Given the description of an element on the screen output the (x, y) to click on. 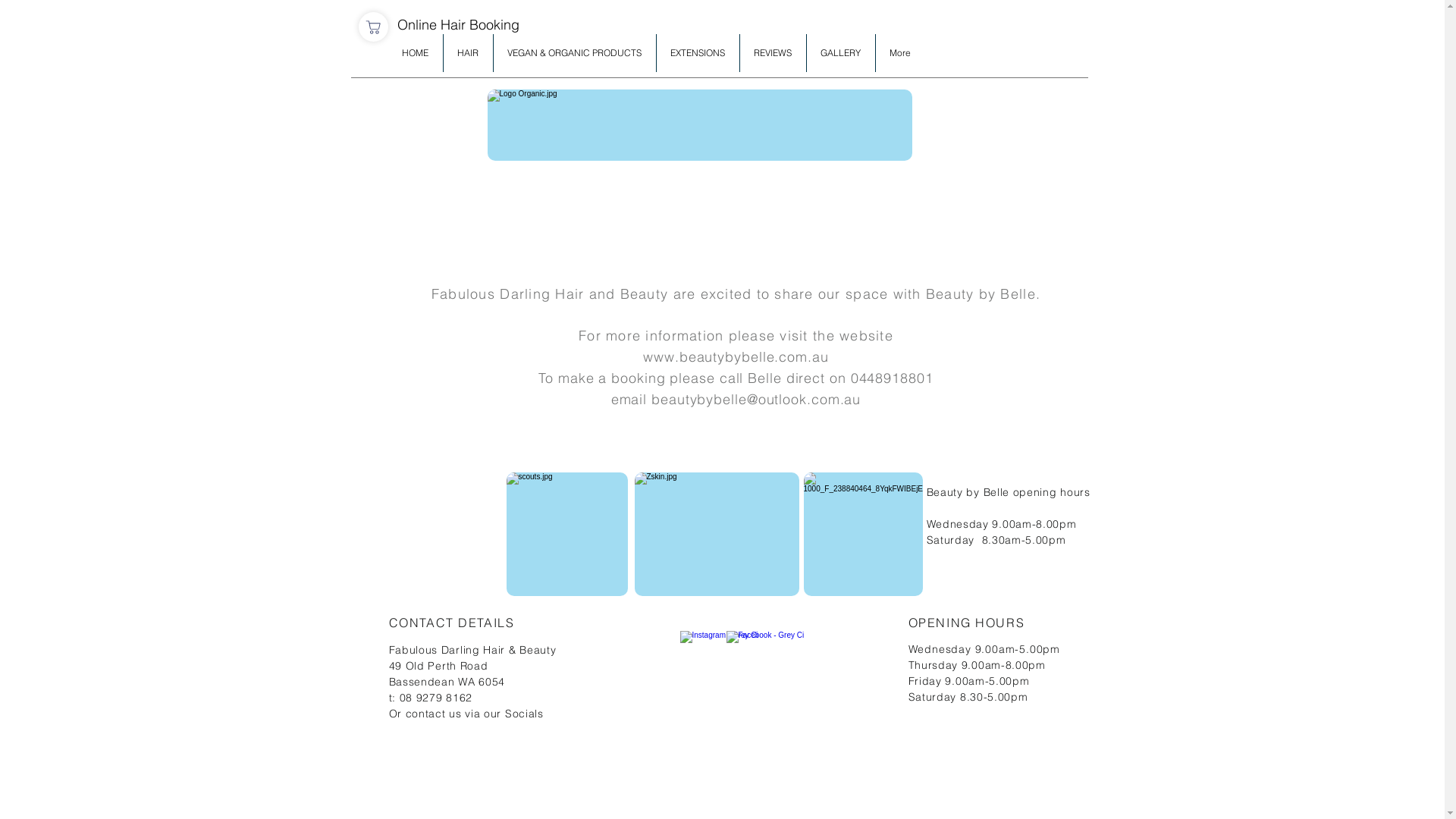
REVIEWS Element type: text (773, 53)
beautybybelle@outlook.com.au Element type: text (755, 398)
VEGAN & ORGANIC PRODUCTS Element type: text (573, 53)
HOME Element type: text (415, 53)
EXTENSIONS Element type: text (697, 53)
HAIR Element type: text (467, 53)
GALLERY Element type: text (840, 53)
Online Hair Booking Element type: text (458, 24)
www.beautybybelle.com.au Element type: text (735, 356)
